Given the description of an element on the screen output the (x, y) to click on. 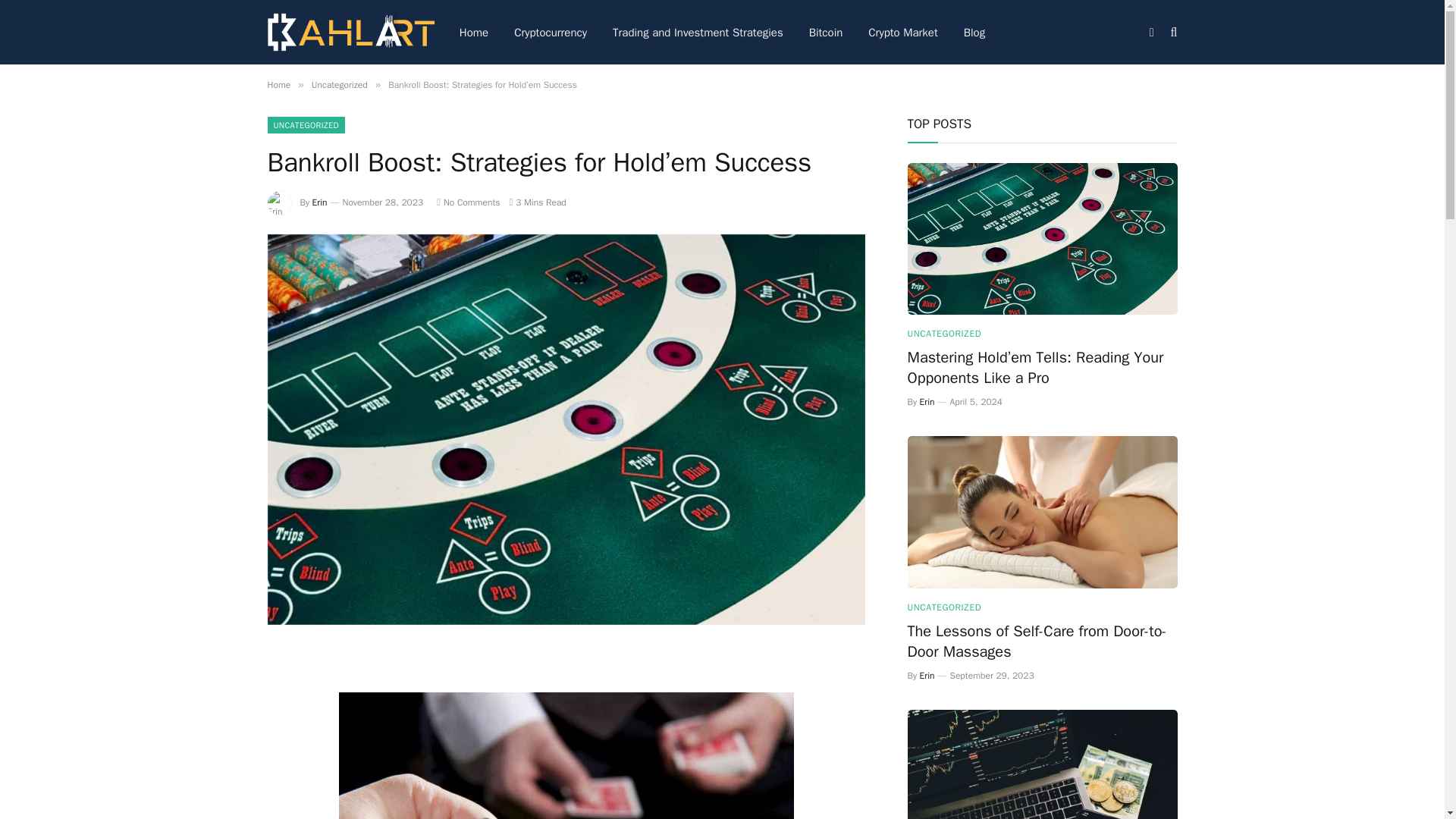
Crypto Market (903, 32)
Posts by Erin (320, 202)
Kahla Art (349, 31)
UNCATEGORIZED (944, 607)
Uncategorized (339, 84)
UNCATEGORIZED (305, 125)
No Comments (467, 202)
Cryptocurrency (549, 32)
Erin (320, 202)
Trading and Investment Strategies (697, 32)
